Given the description of an element on the screen output the (x, y) to click on. 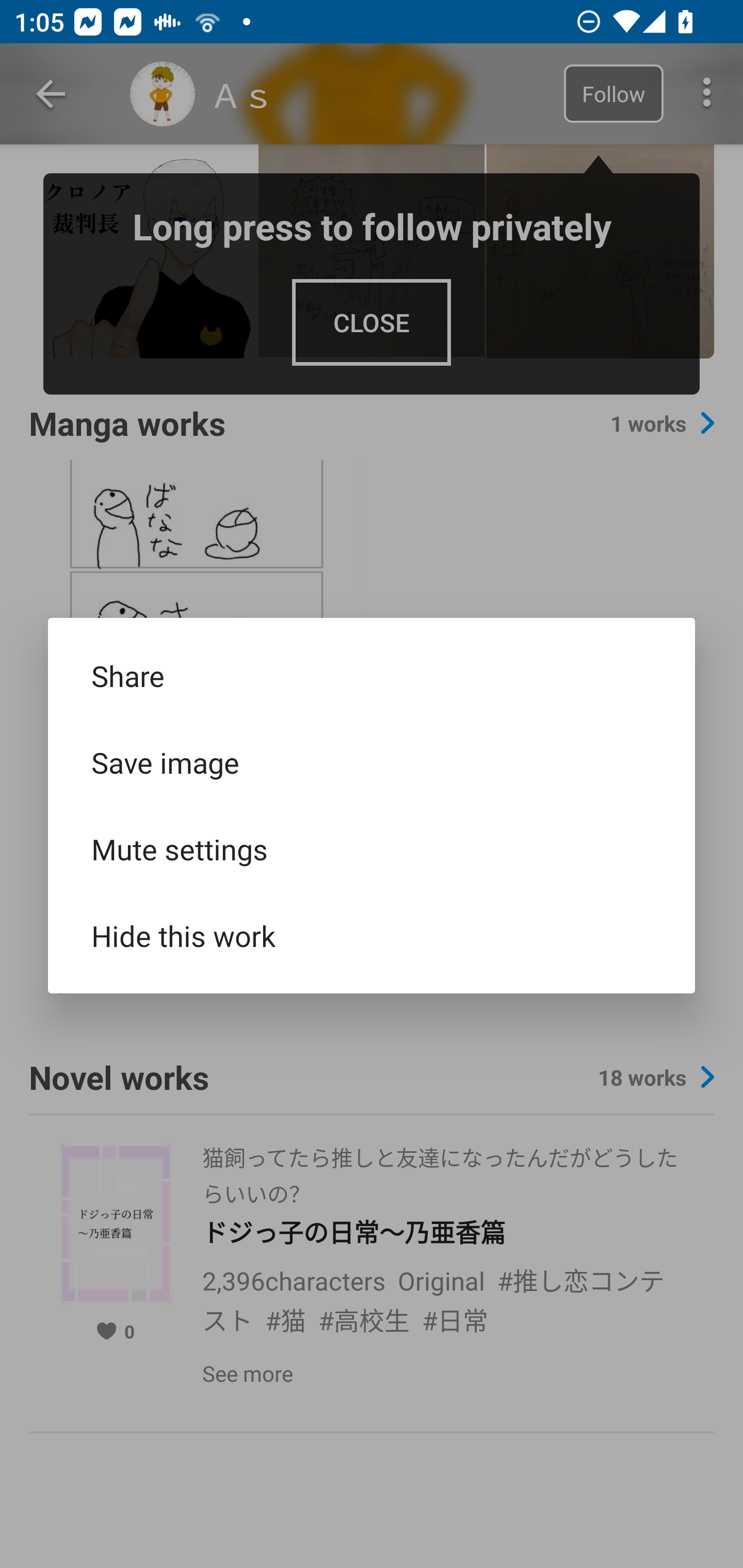
Share (371, 675)
Save image (371, 762)
Mute settings (371, 848)
Hide this work (371, 935)
